Given the description of an element on the screen output the (x, y) to click on. 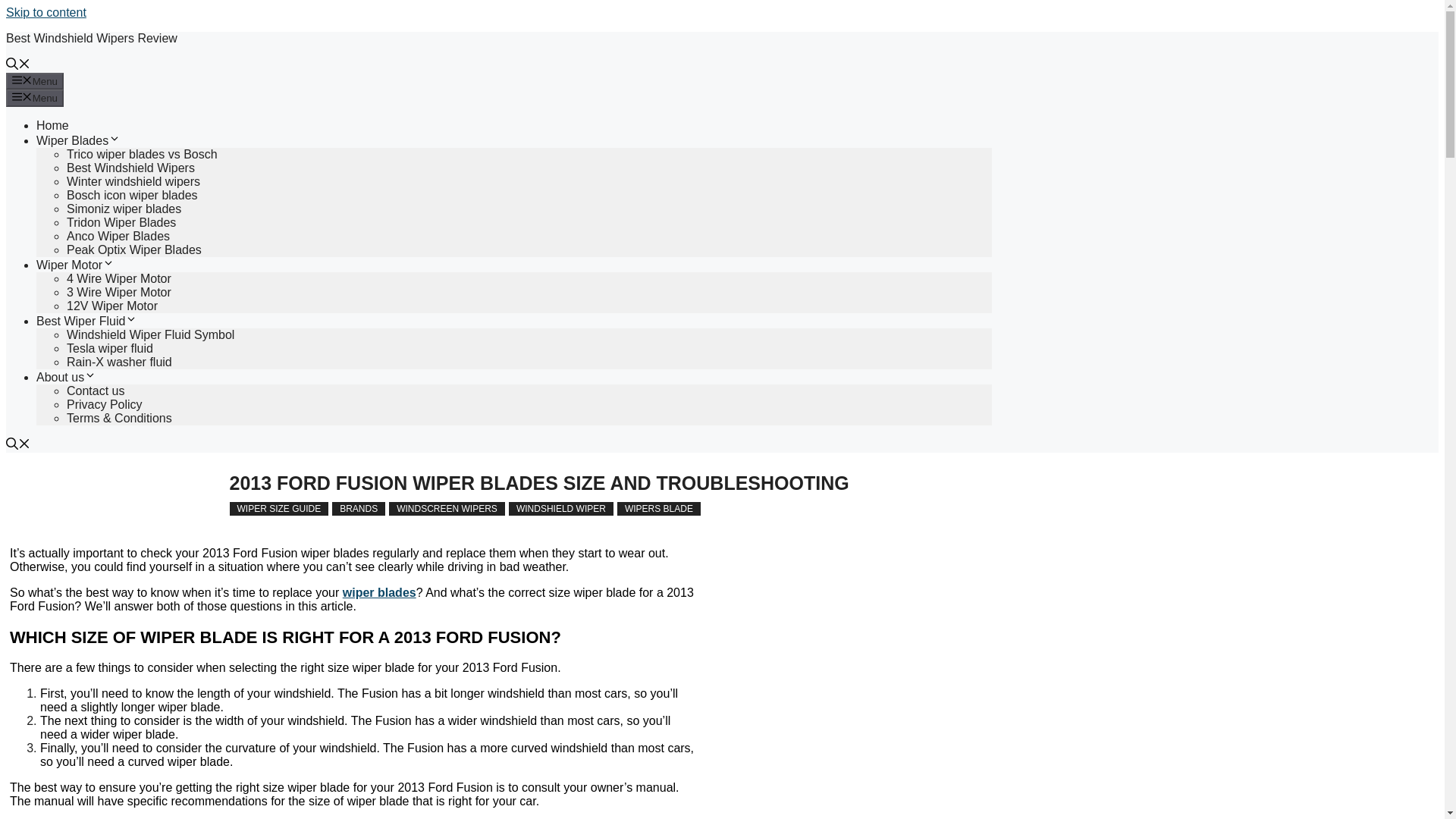
Windshield Wiper Fluid Symbol (150, 334)
Skip to content (45, 11)
Trico wiper blades vs Bosch (141, 154)
About us (66, 377)
Best Windshield Wipers (130, 167)
Home (52, 124)
Best Windshield Wipers Review (91, 38)
Rain-X washer fluid (118, 361)
Simoniz wiper blades (123, 208)
Contact us (94, 390)
Menu (34, 80)
BRANDS (358, 508)
3 Wire Wiper Motor (118, 291)
WIPER SIZE GUIDE (278, 508)
Best Wiper Fluid (86, 320)
